Given the description of an element on the screen output the (x, y) to click on. 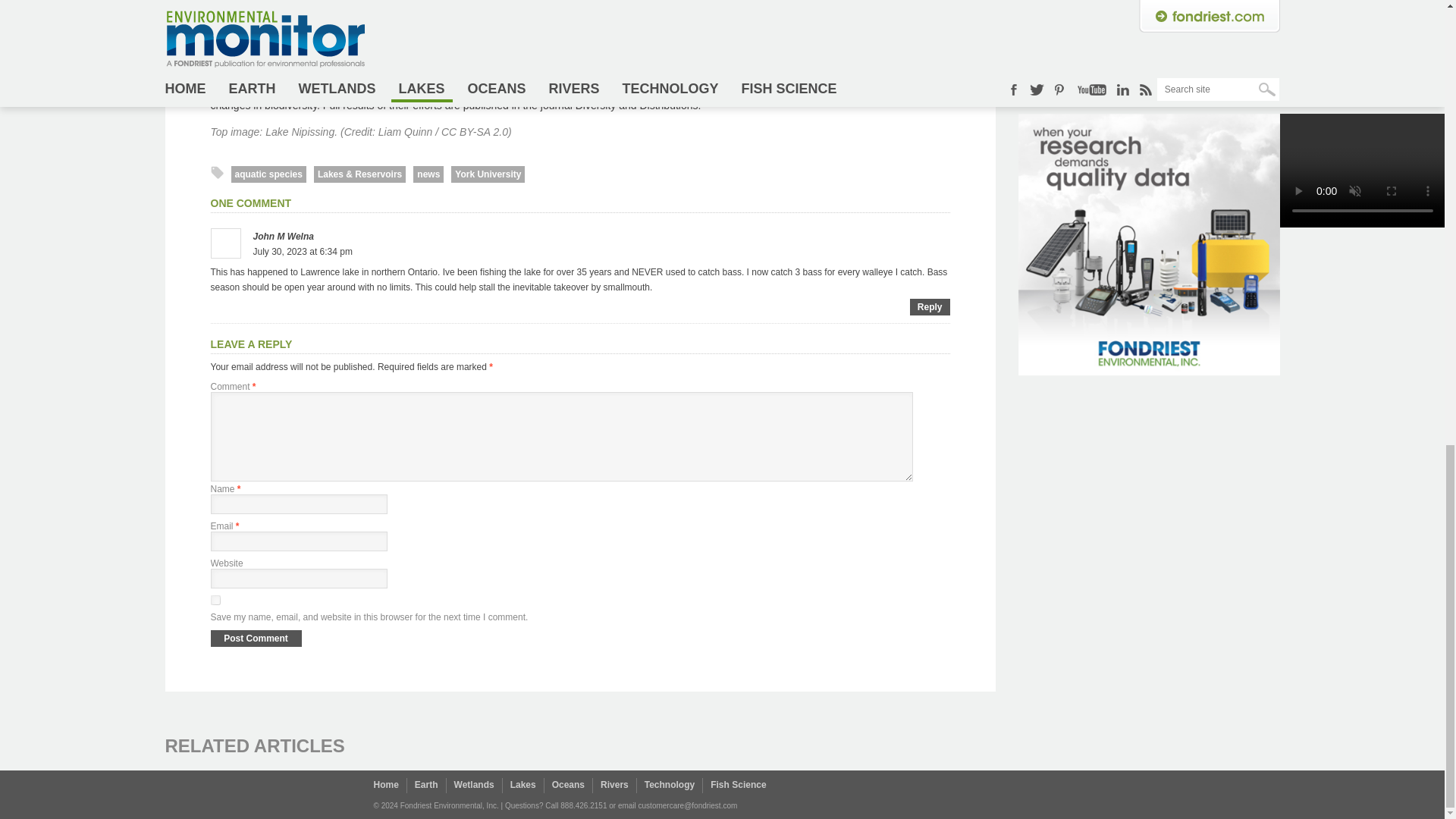
Fish Science (737, 784)
Post Comment (256, 638)
aquatic species (267, 174)
Lakes (523, 784)
Wetlands (474, 784)
Rivers (613, 784)
Oceans (568, 784)
Earth (426, 784)
888.426.2151 (583, 805)
news (428, 174)
